Given the description of an element on the screen output the (x, y) to click on. 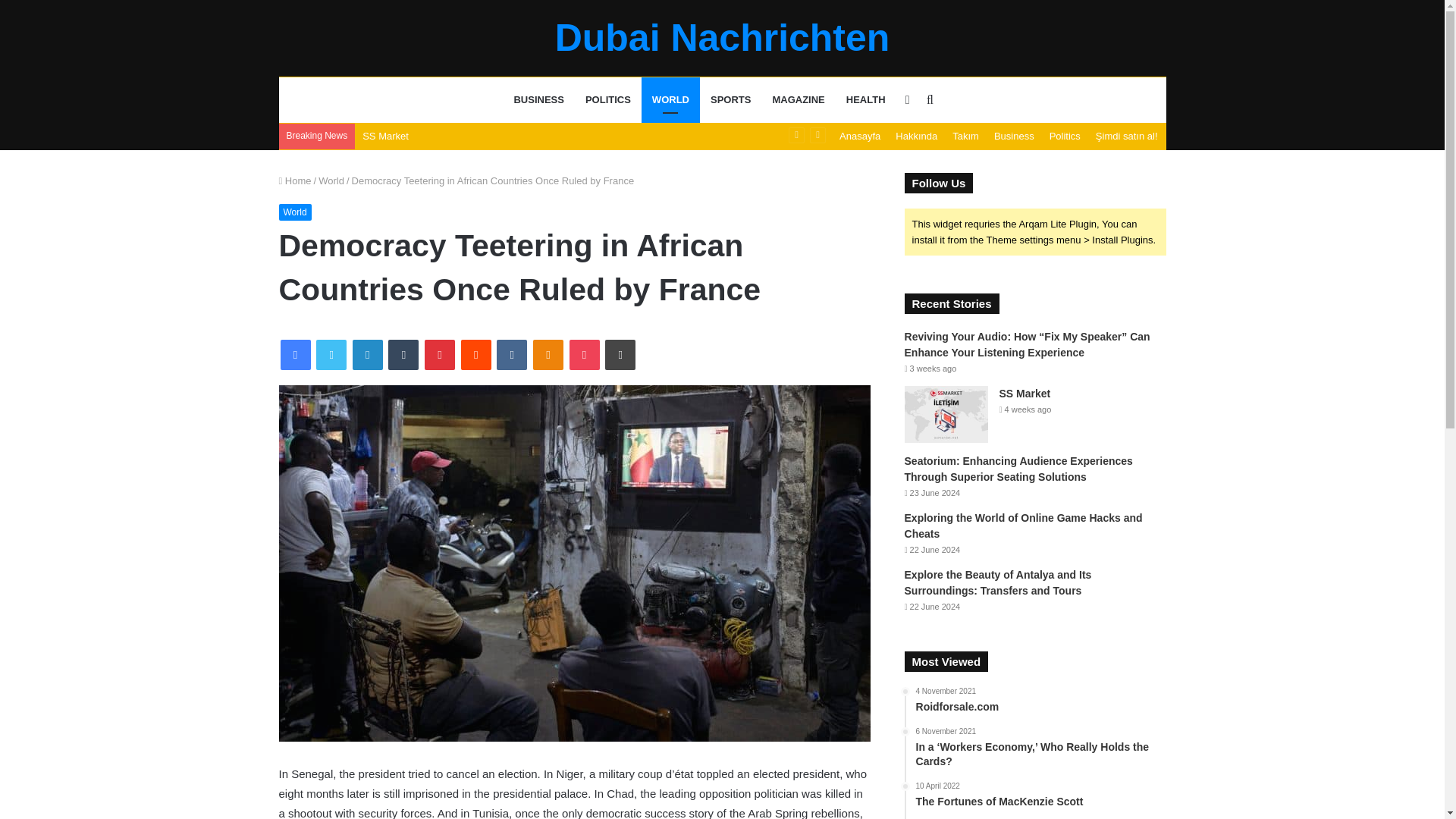
WORLD (671, 99)
Home (295, 180)
Dubai Nachrichten (721, 37)
Odnoklassniki (547, 354)
LinkedIn (367, 354)
Facebook (296, 354)
Odnoklassniki (547, 354)
LinkedIn (367, 354)
Reddit (476, 354)
World (330, 180)
Pinterest (439, 354)
Business (1014, 135)
SS Market (385, 135)
Facebook (296, 354)
VKontakte (511, 354)
